Given the description of an element on the screen output the (x, y) to click on. 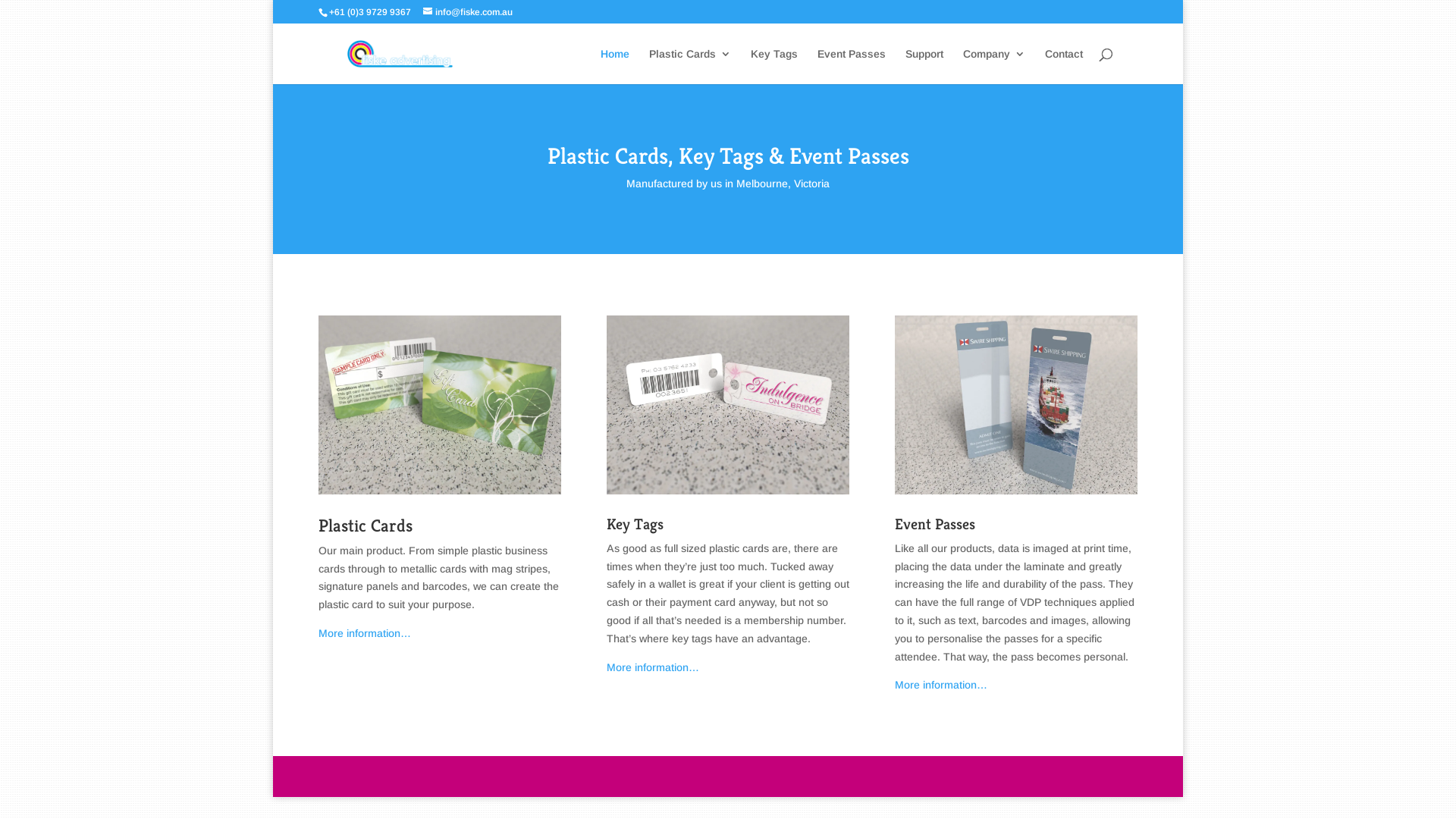
Contact Element type: text (1063, 66)
Event Passes Element type: text (851, 66)
Home Element type: text (614, 66)
info@fiske.com.au Element type: text (467, 11)
Plastic Cards Element type: text (690, 66)
Key Tags Element type: text (773, 66)
Support Element type: text (924, 66)
Company Element type: text (994, 66)
